Given the description of an element on the screen output the (x, y) to click on. 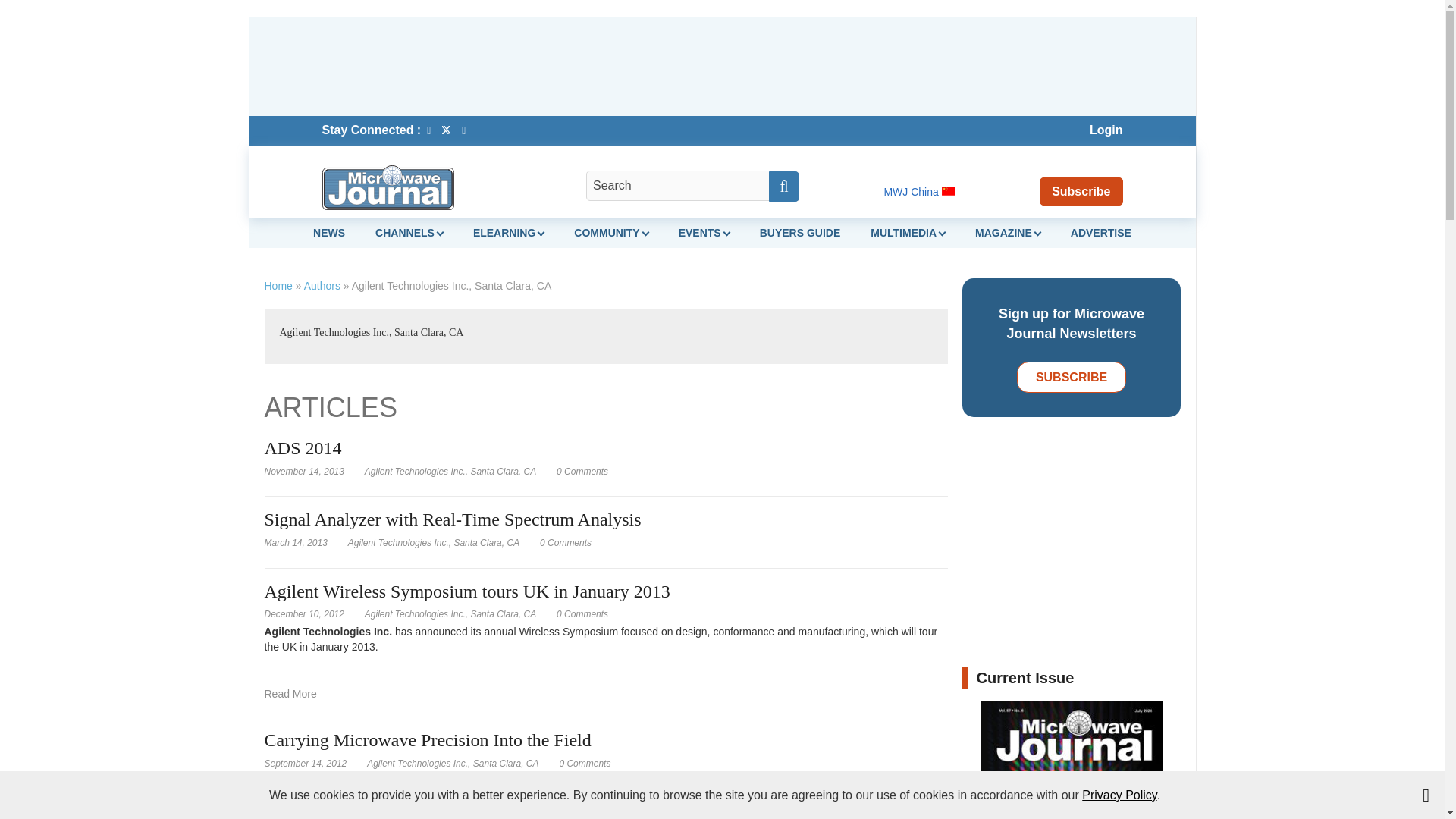
Agilent Wireless Symposium tours UK in January 2013 (289, 693)
ADS 2014 (582, 471)
Agilent Wireless Symposium tours UK in January 2013 (582, 614)
Carrying Microwave Precision Into the Field (289, 811)
3rd party ad content (721, 66)
Signal Analyzer with Real-Time Spectrum Analysis (565, 542)
Carrying Microwave Precision Into the Field (584, 763)
